Given the description of an element on the screen output the (x, y) to click on. 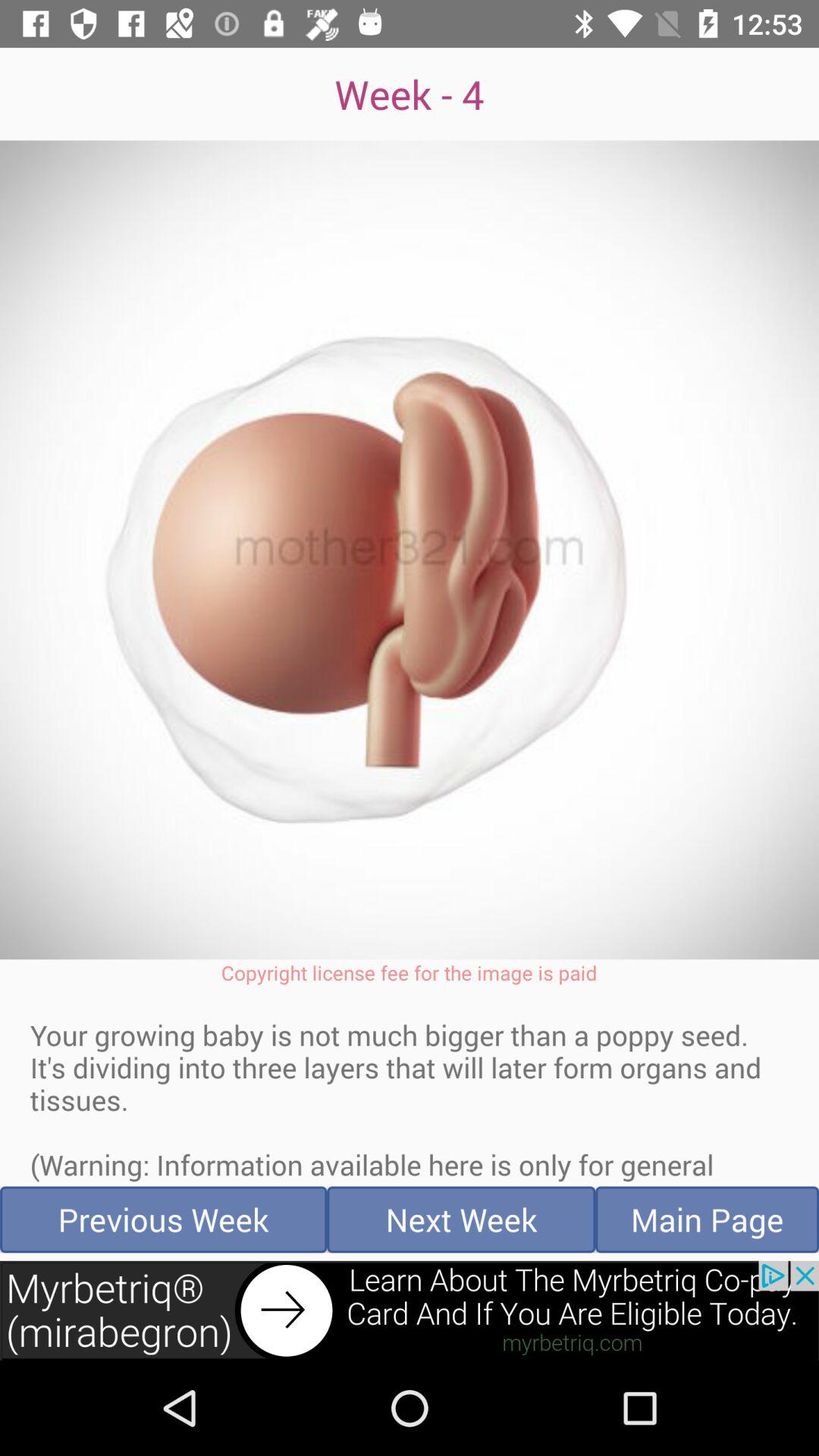
announcement (409, 1310)
